Given the description of an element on the screen output the (x, y) to click on. 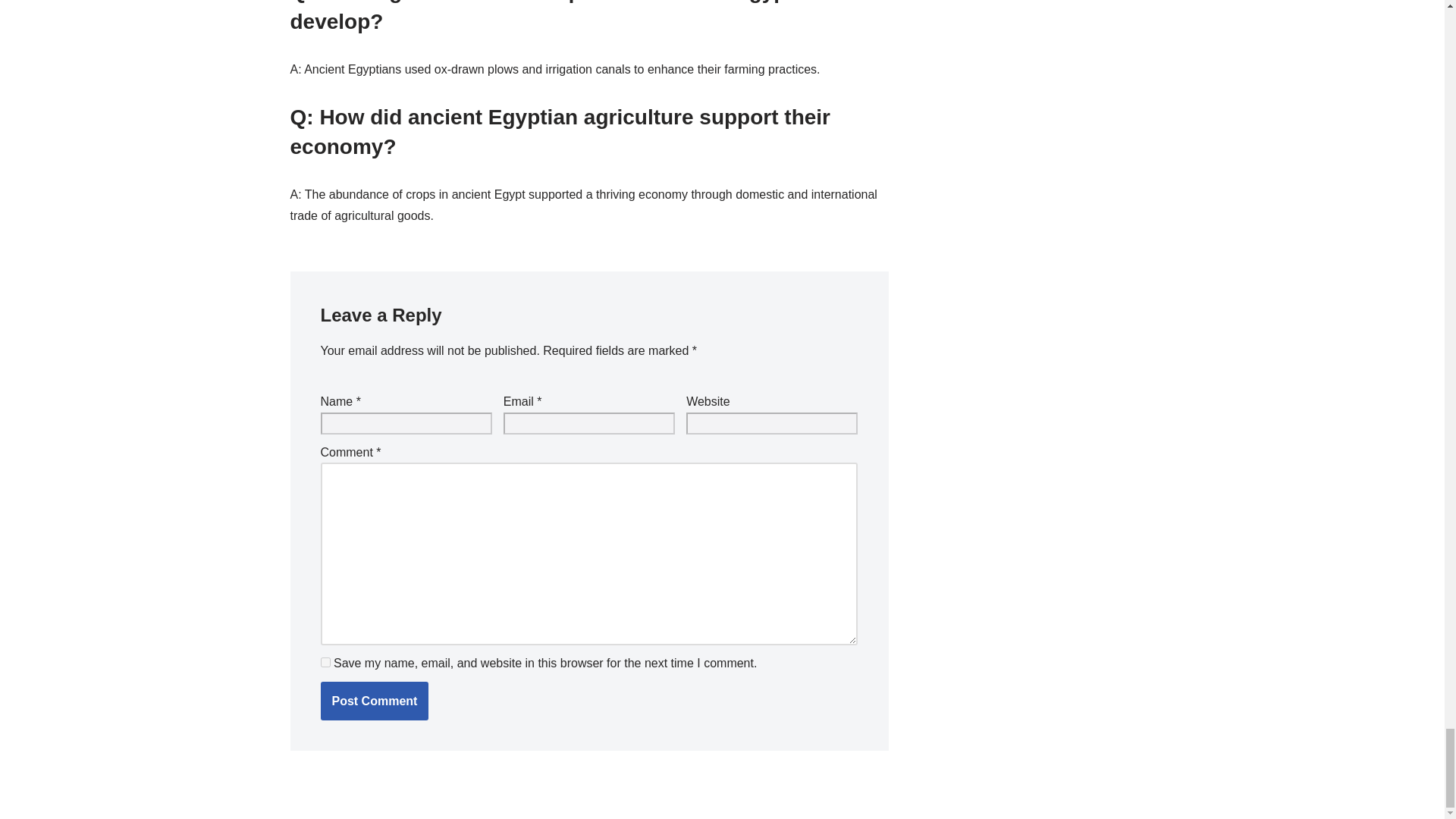
Post Comment (374, 701)
yes (325, 662)
Post Comment (374, 701)
